Given the description of an element on the screen output the (x, y) to click on. 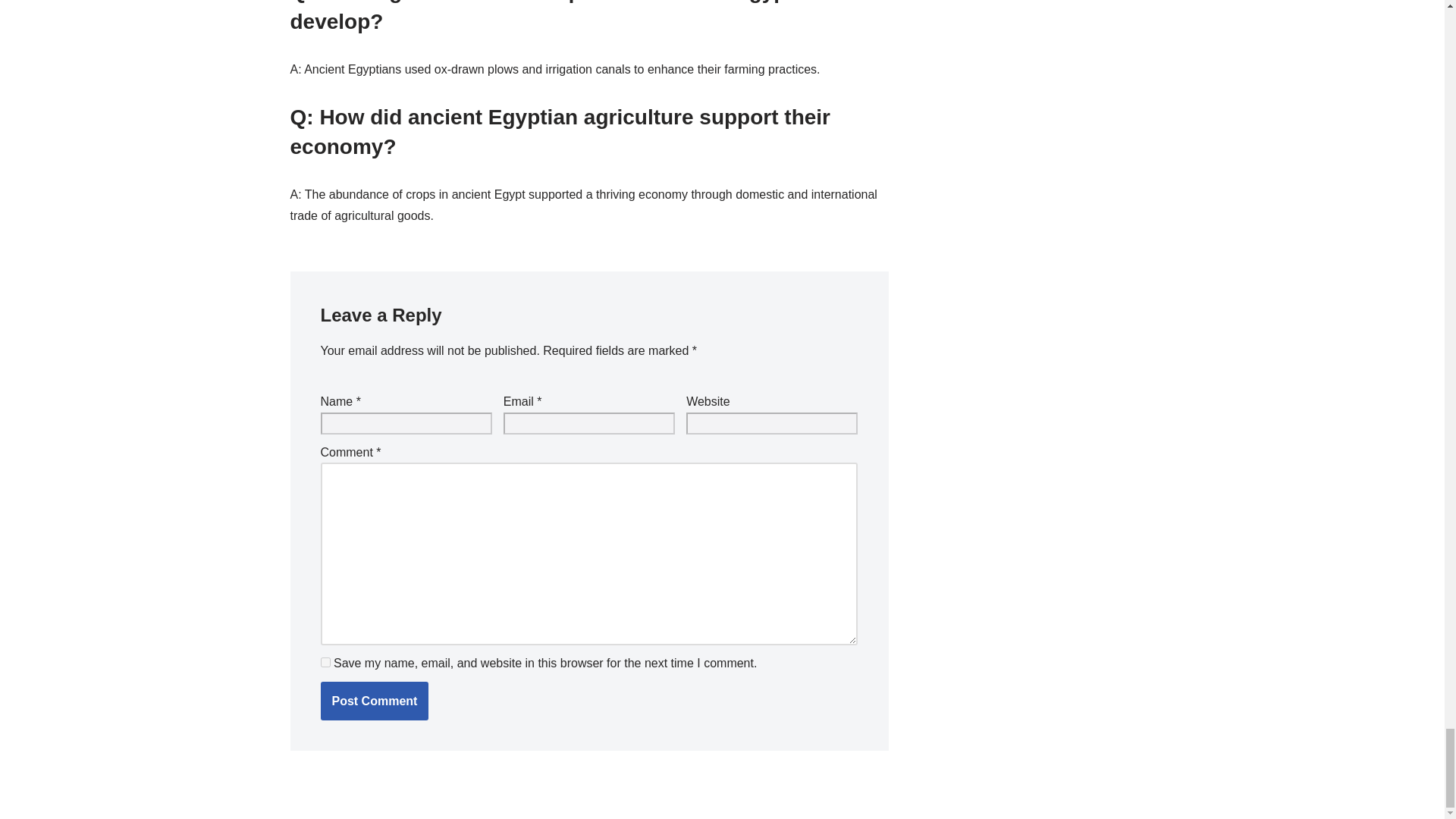
Post Comment (374, 701)
yes (325, 662)
Post Comment (374, 701)
